Given the description of an element on the screen output the (x, y) to click on. 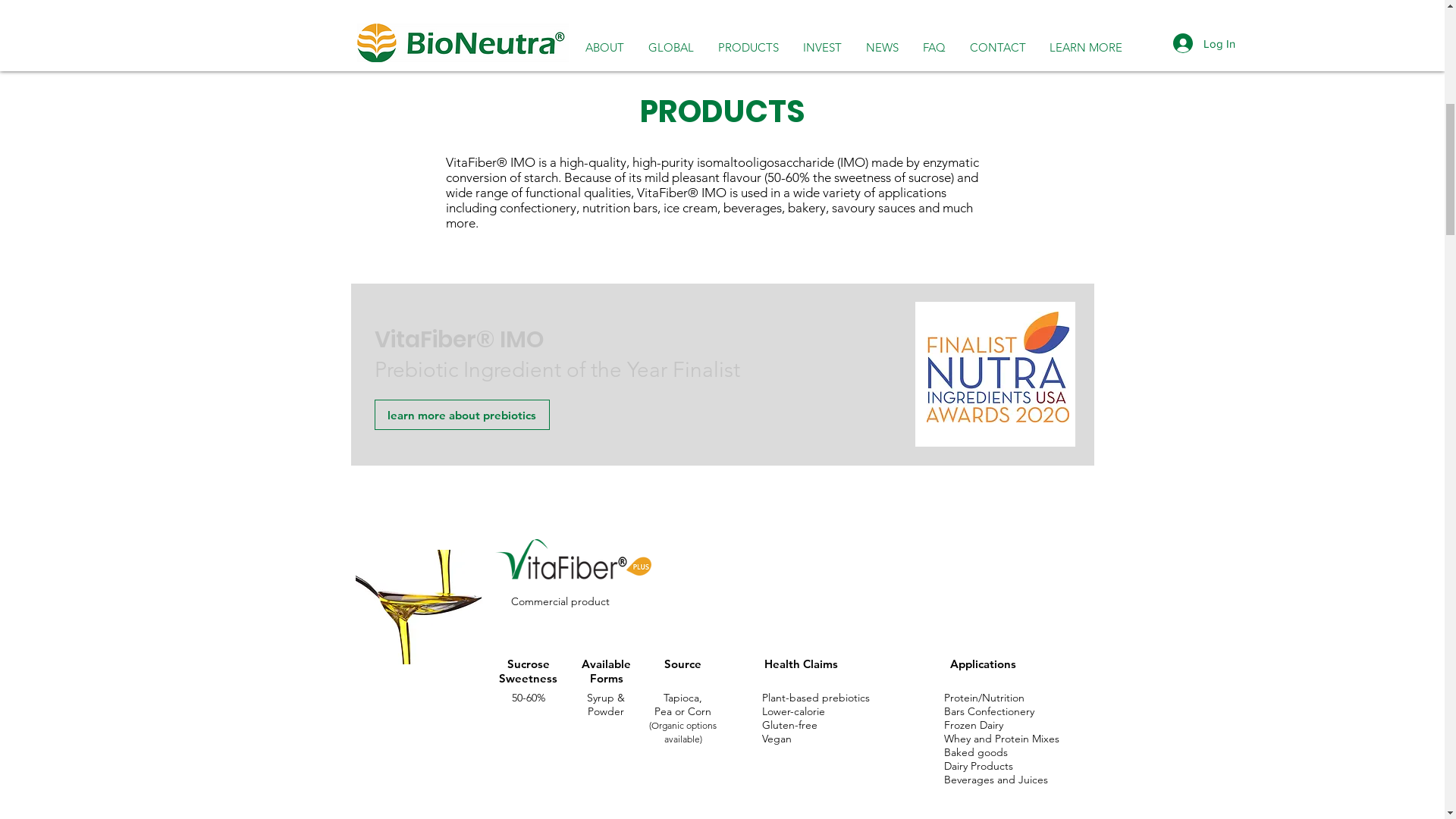
FAQ Element type: text (933, 504)
contact us Element type: text (718, 420)
INVEST Element type: text (821, 465)
Log In Element type: text (1203, 535)
LEARN MORE Element type: text (1085, 527)
ABOUT Element type: text (604, 276)
PRODUCTS Element type: text (747, 452)
CONTACT Element type: text (997, 516)
NEWS Element type: text (881, 492)
